Given the description of an element on the screen output the (x, y) to click on. 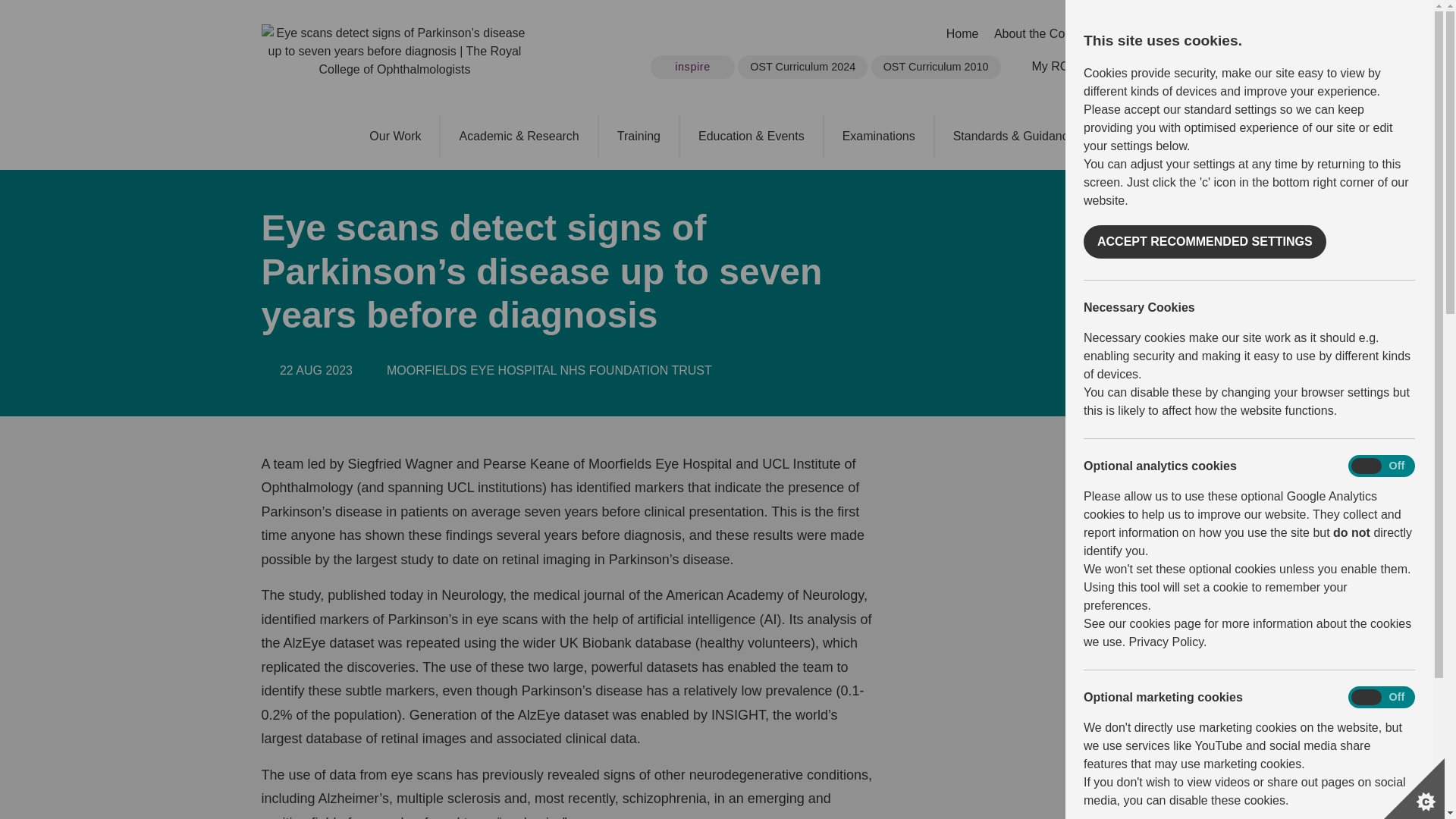
Examinations (879, 136)
Training (639, 136)
inspire (692, 66)
About the College (1042, 34)
DATE (266, 371)
Search (1125, 66)
Home (962, 34)
OST Curriculum 2024 (802, 66)
My RCOphth (1065, 65)
Our Work (394, 136)
OST Curriculum 2010 (935, 66)
My RCOphth (1018, 66)
Search Search (1146, 66)
AUTHOR (374, 371)
